Given the description of an element on the screen output the (x, y) to click on. 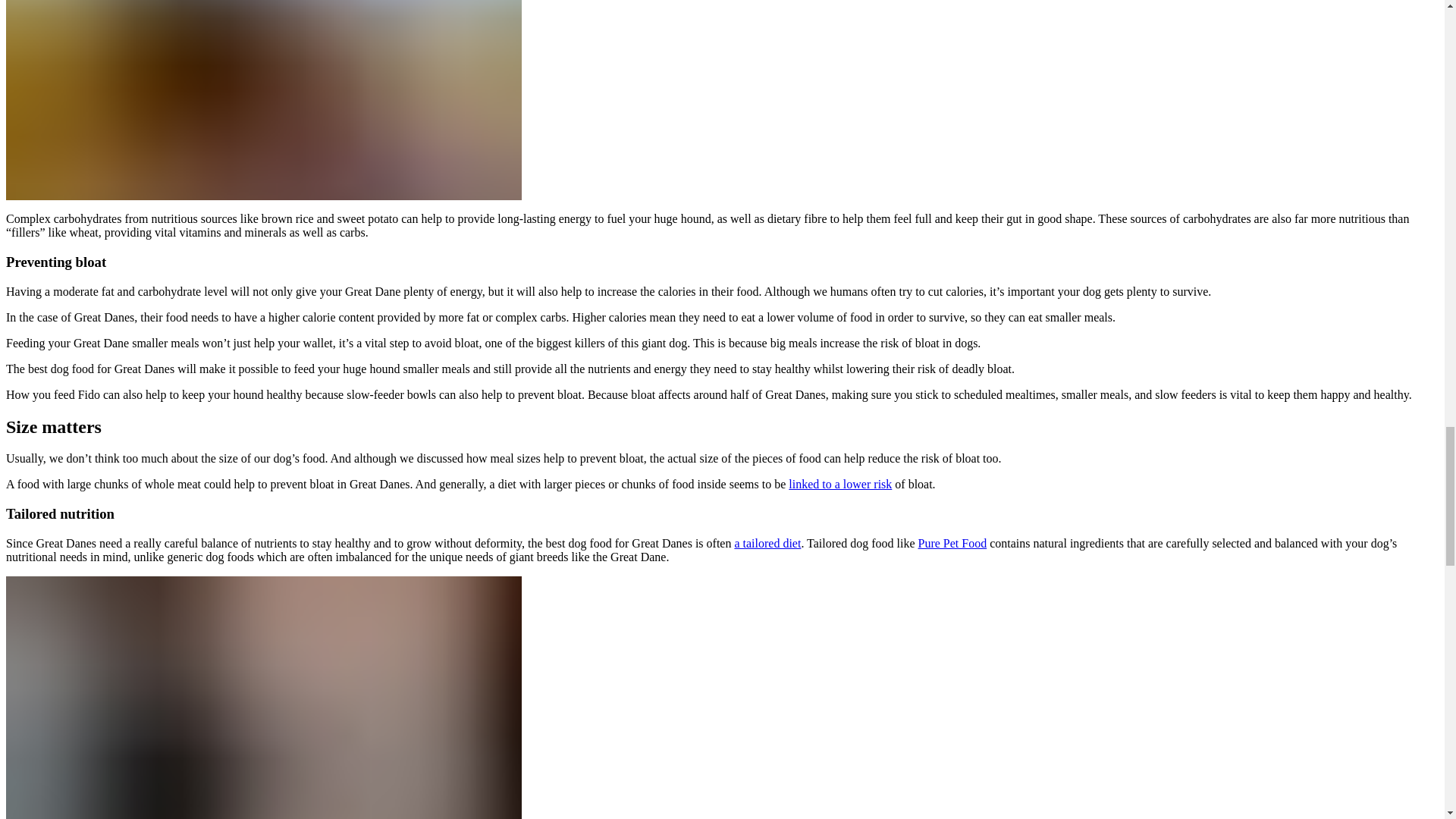
Pure Pet Food (952, 543)
linked to a lower risk (840, 483)
a tailored diet (766, 543)
